Given the description of an element on the screen output the (x, y) to click on. 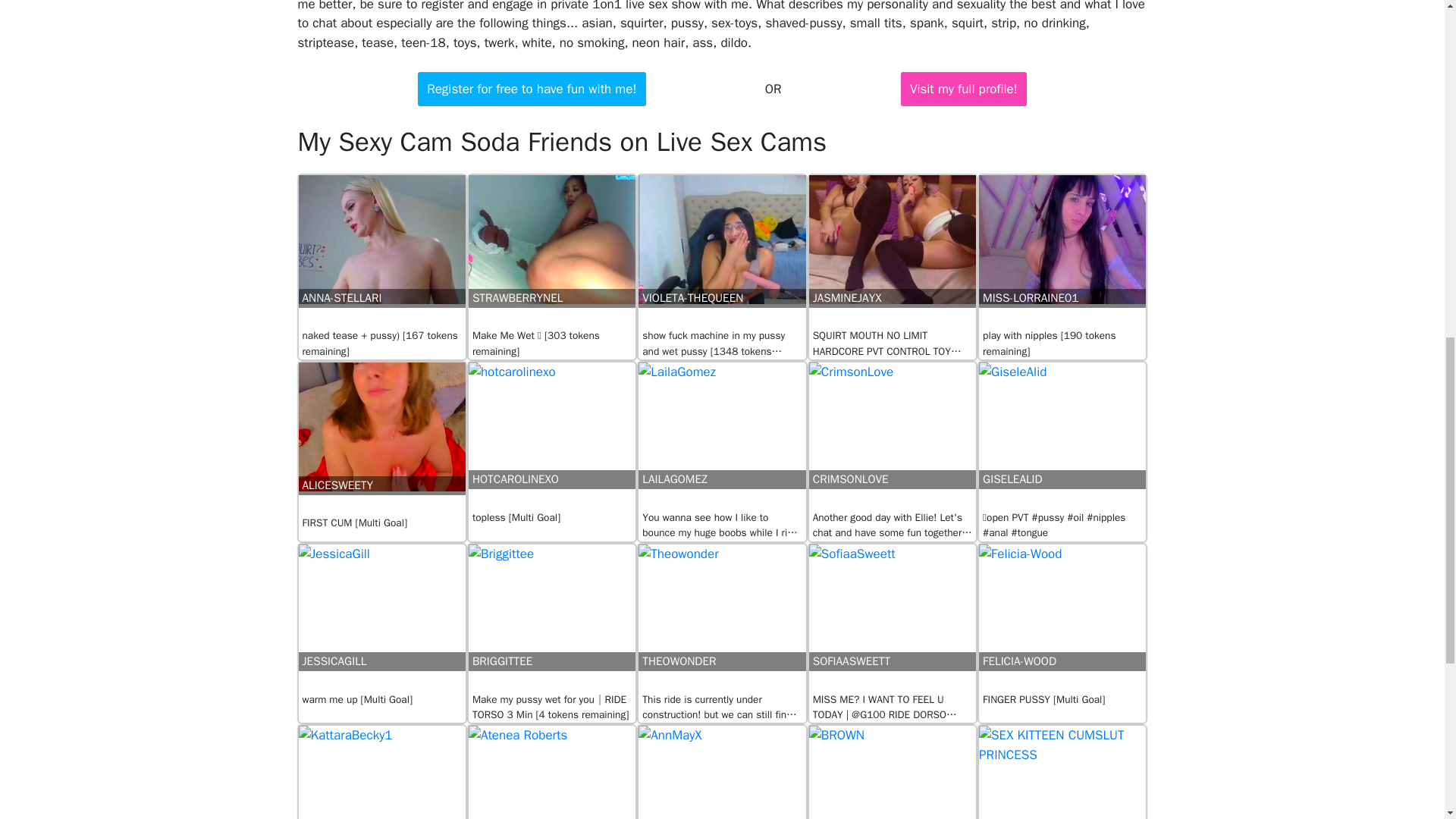
Scroll back to top (1406, 720)
JASMINEJAYX (892, 251)
ATENEAROBERTS (551, 772)
JESSICAGILL (381, 618)
KATTARABECKY1 (381, 772)
LAILAGOMEZ (722, 436)
BRIGGITTEE (551, 618)
Visit my full profile! (963, 89)
ANNMAYX (722, 772)
VIOLETA-THEQUEEN (722, 251)
Register for free to have fun with me! (531, 89)
ALICESWEETY (381, 438)
THEOWONDER (722, 618)
SOFIAASWEETT (892, 618)
RAVEBUNNYYY (1061, 772)
